Given the description of an element on the screen output the (x, y) to click on. 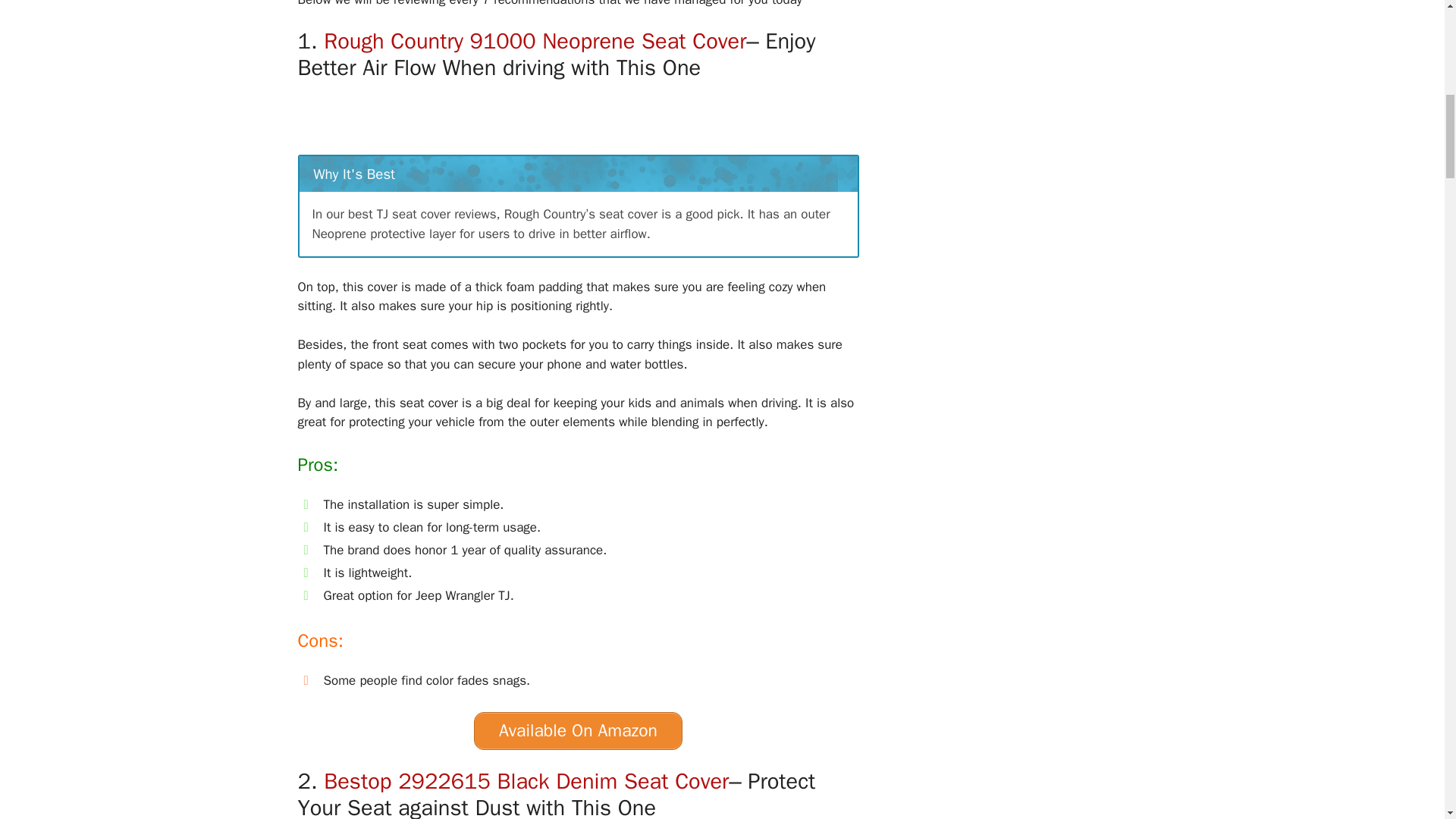
Available On Amazon (578, 730)
Rough Country 91000 Neoprene Seat Cover (534, 41)
Bestop 2922615 Black Denim Seat Cover (526, 781)
